Given the description of an element on the screen output the (x, y) to click on. 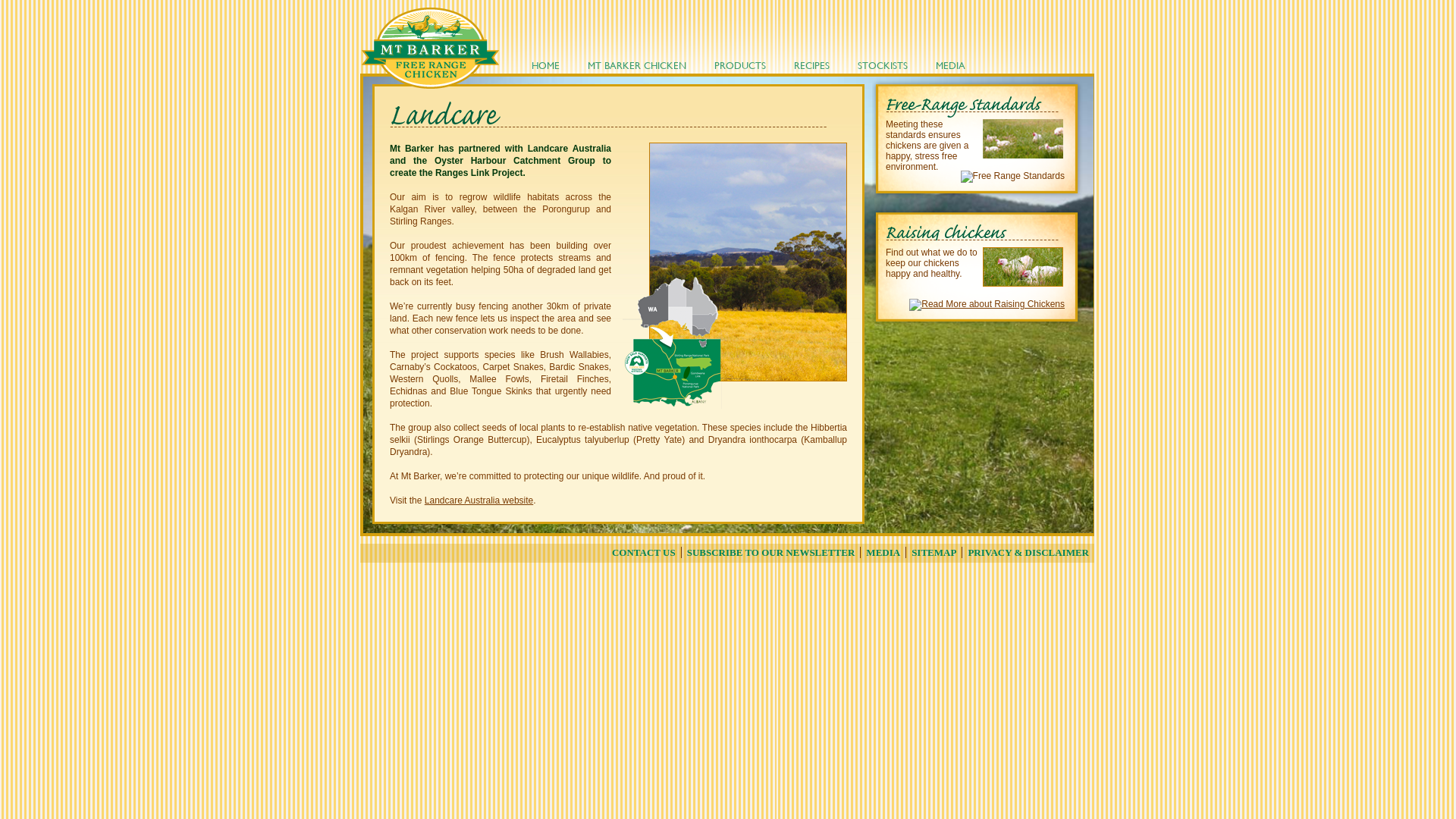
MEDIA Element type: text (952, 63)
SUBSCRIBE TO OUR NEWSLETTER Element type: text (771, 552)
SITEMAP Element type: text (934, 552)
MEDIA Element type: text (883, 552)
CONTACT US Element type: text (643, 552)
Landcare Australia website Element type: text (478, 500)
PRIVACY & DISCLAIMER Element type: text (1028, 552)
RECIPES Element type: text (813, 63)
MT BARKER CHICKEN Element type: text (638, 63)
HOME Element type: text (547, 63)
STOCKISTS Element type: text (884, 63)
PRODUCTS Element type: text (741, 63)
